Given the description of an element on the screen output the (x, y) to click on. 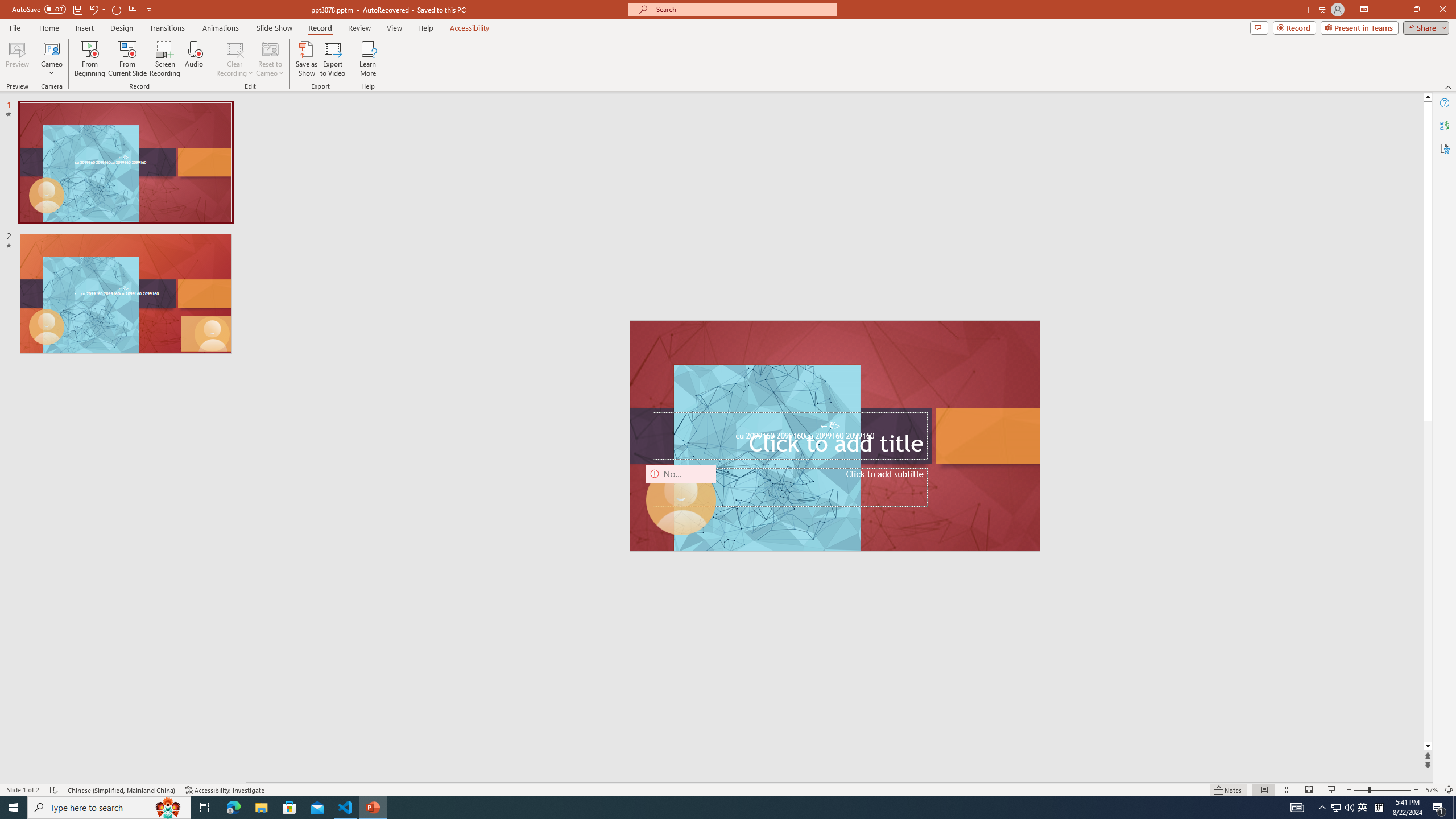
Save as Show (306, 58)
Screen Recording (165, 58)
Reset to Cameo (269, 58)
Audio (193, 58)
Zoom 57% (1431, 790)
